Given the description of an element on the screen output the (x, y) to click on. 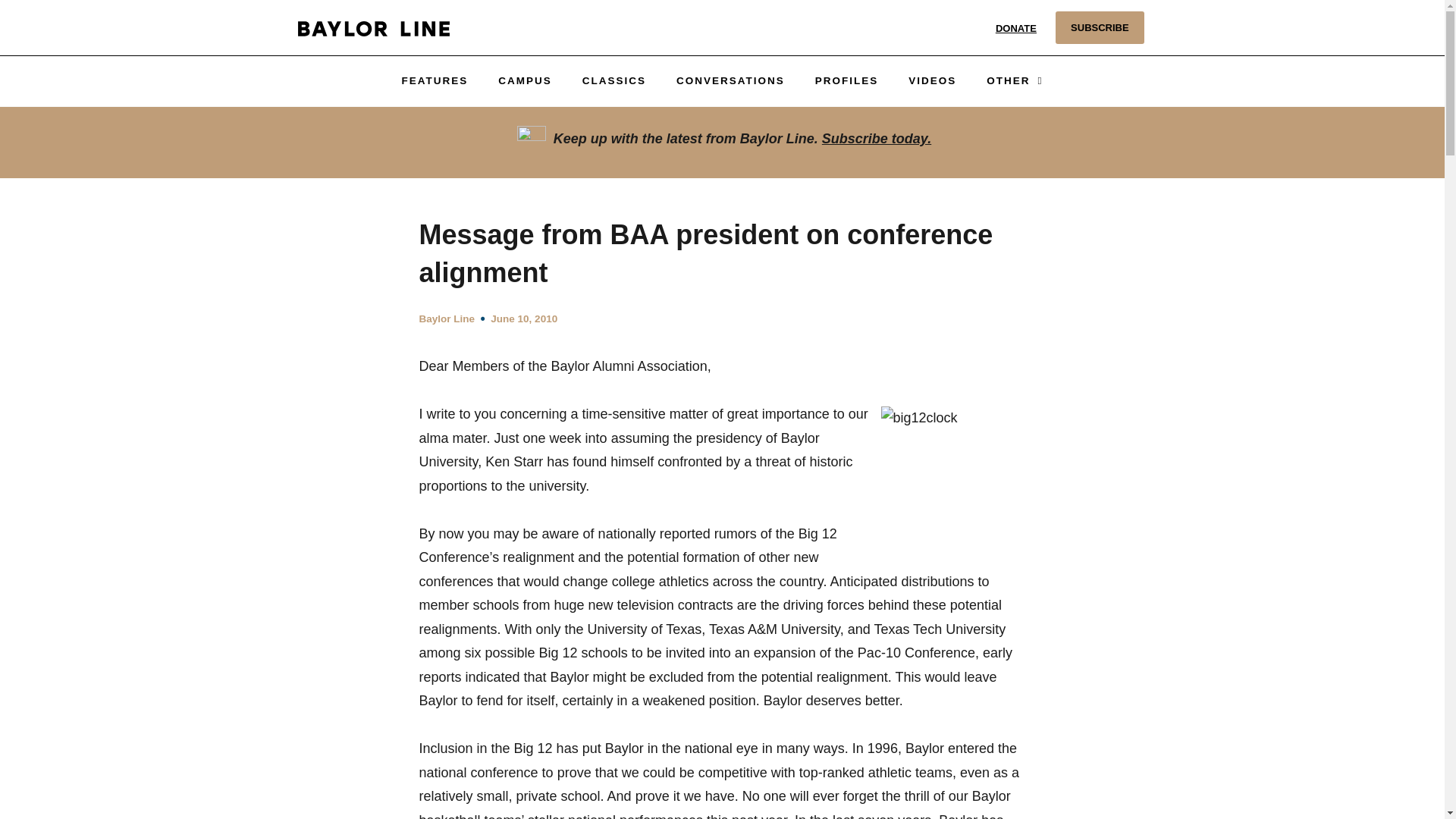
CLASSICS (614, 80)
CAMPUS (525, 80)
big12clock (951, 479)
CONVERSATIONS (730, 80)
OTHER (1014, 80)
FEATURES (434, 80)
PROFILES (846, 80)
VIDEOS (932, 80)
DONATE (1016, 27)
SUBSCRIBE (1099, 27)
